Given the description of an element on the screen output the (x, y) to click on. 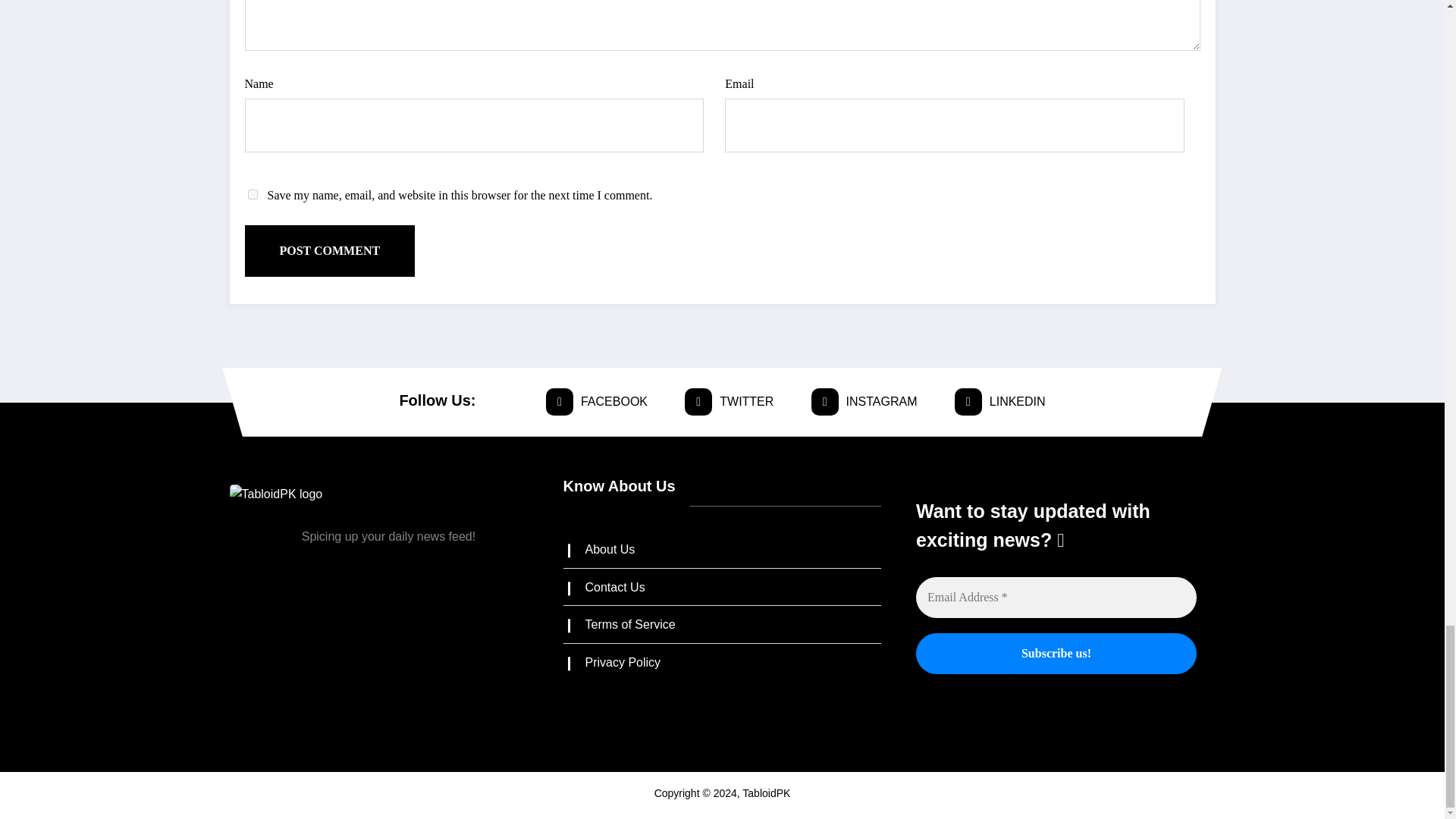
yes (252, 194)
Subscribe us! (1055, 653)
Post Comment (329, 250)
